Given the description of an element on the screen output the (x, y) to click on. 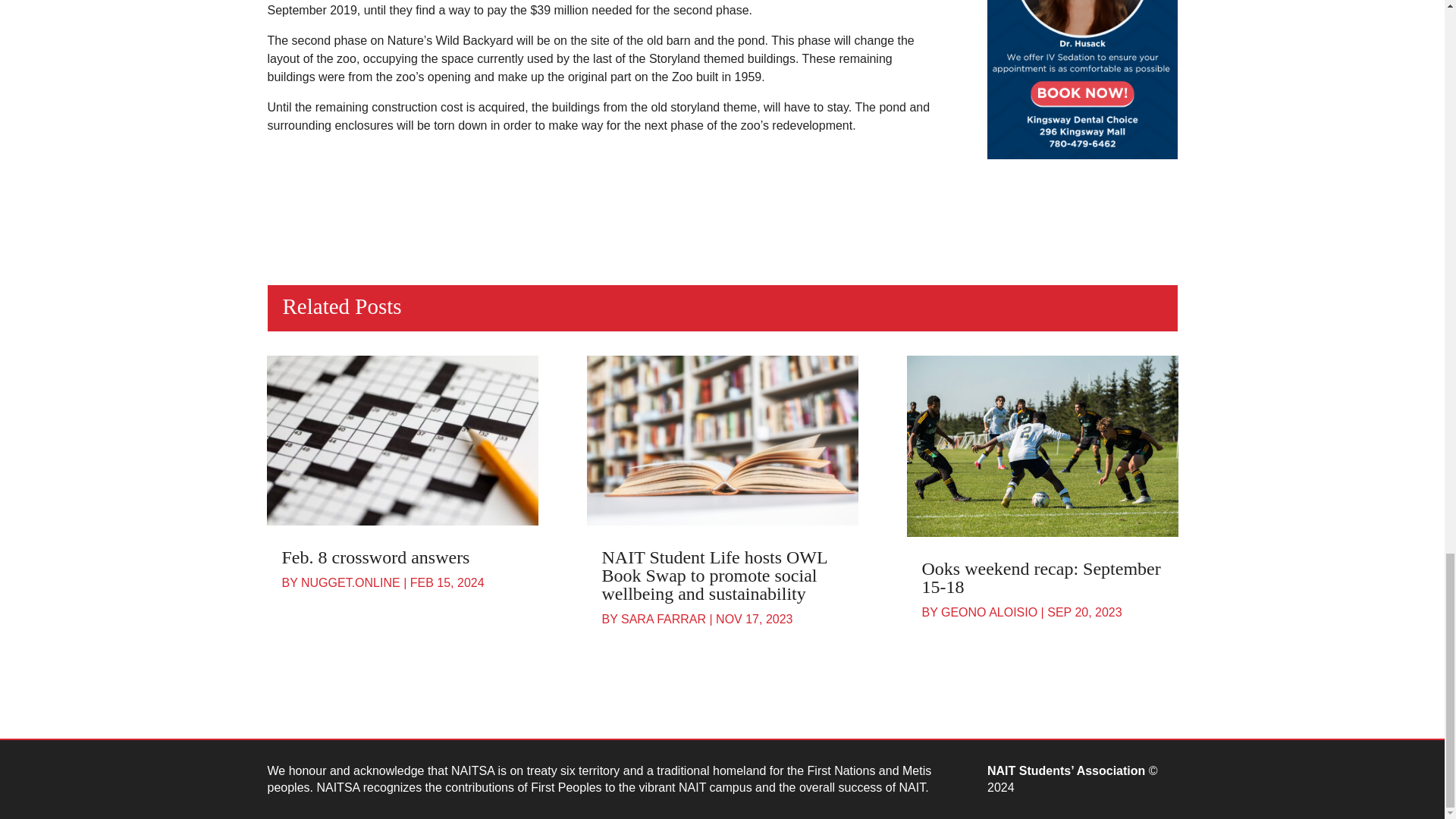
Posts by Sara Farrar (663, 618)
Posts by Geono Aloisio (988, 612)
Posts by nugget.online (350, 582)
